Given the description of an element on the screen output the (x, y) to click on. 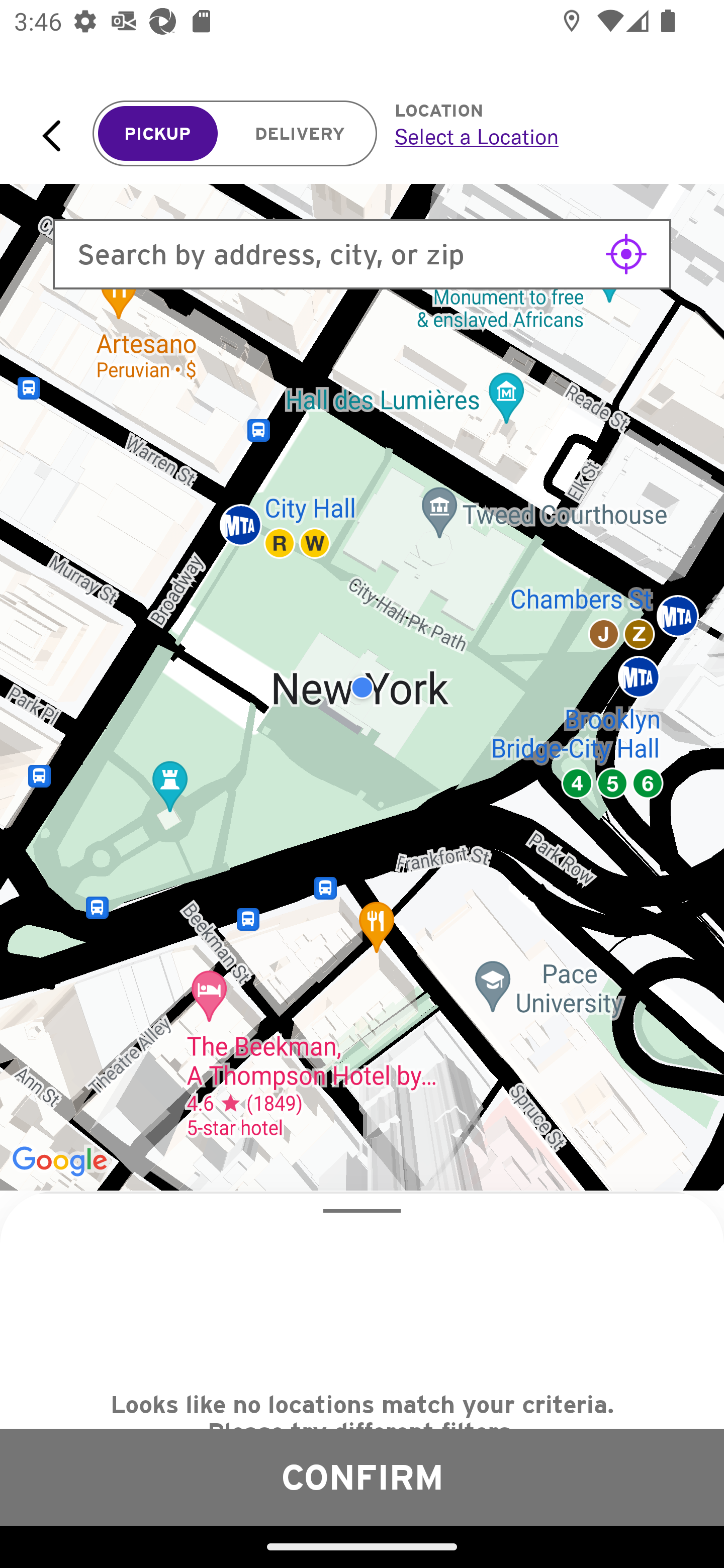
PICKUP (157, 133)
DELIVERY (299, 133)
Select a Location (536, 136)
Search by address, city, or zip (361, 254)
CONFIRM (362, 1476)
